Given the description of an element on the screen output the (x, y) to click on. 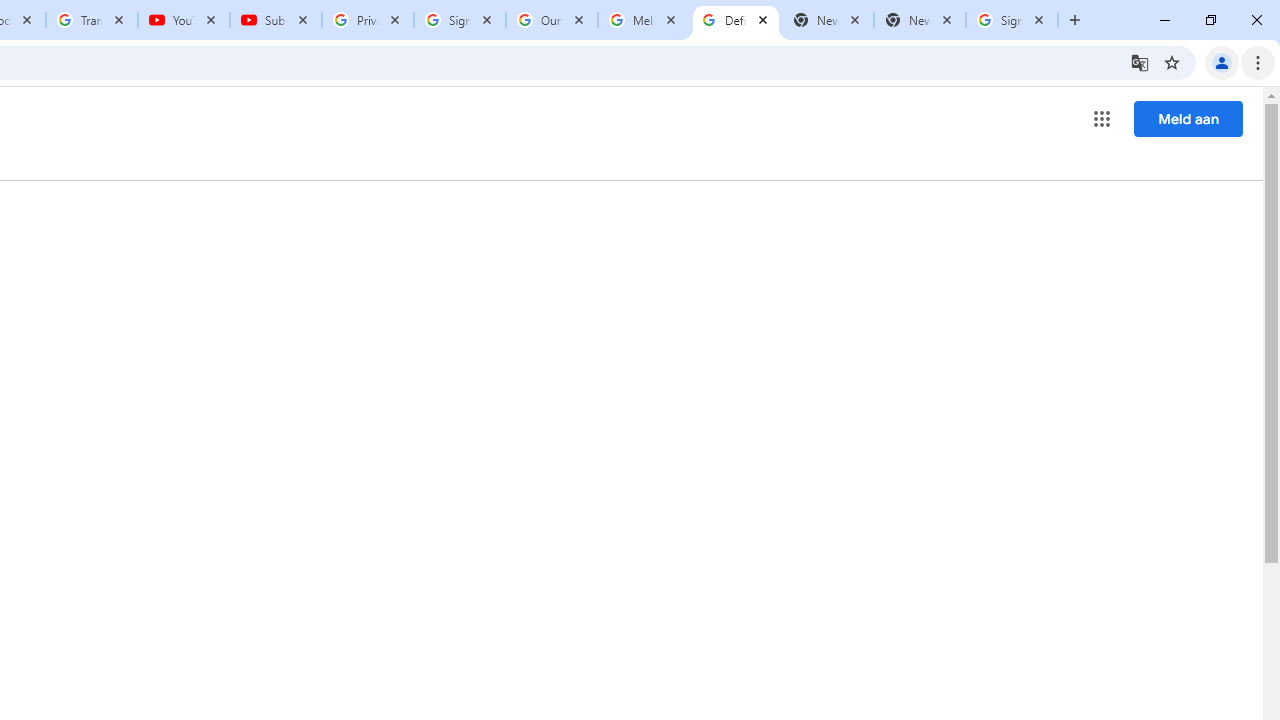
Sign in - Google Accounts (459, 20)
Meld aan (1188, 118)
Subscriptions - YouTube (276, 20)
YouTube (184, 20)
Translate this page (1139, 62)
Sign in - Google Accounts (1012, 20)
